Given the description of an element on the screen output the (x, y) to click on. 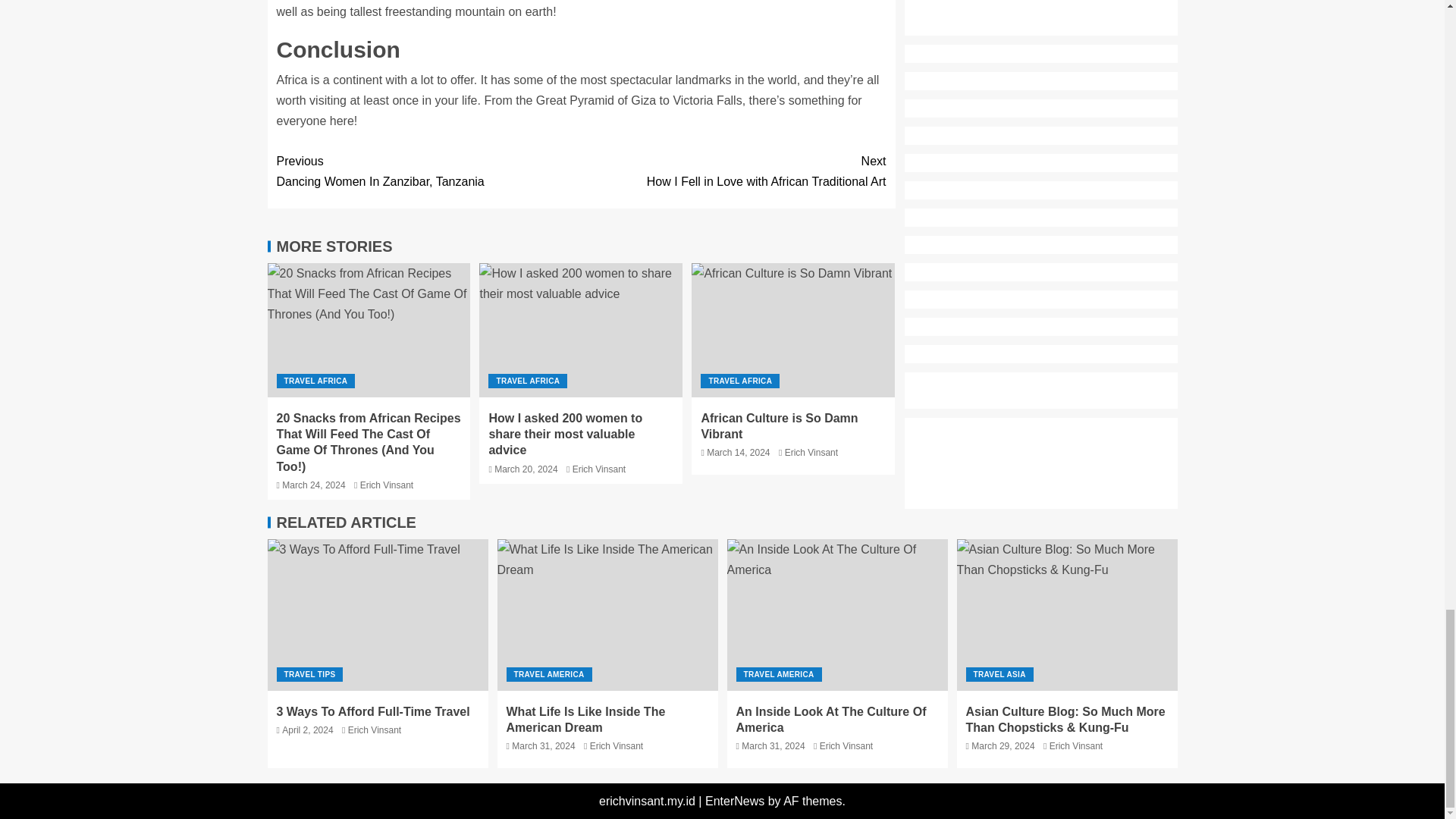
How I asked 200 women to share their most valuable advice (580, 329)
TRAVEL AFRICA (732, 170)
